Given the description of an element on the screen output the (x, y) to click on. 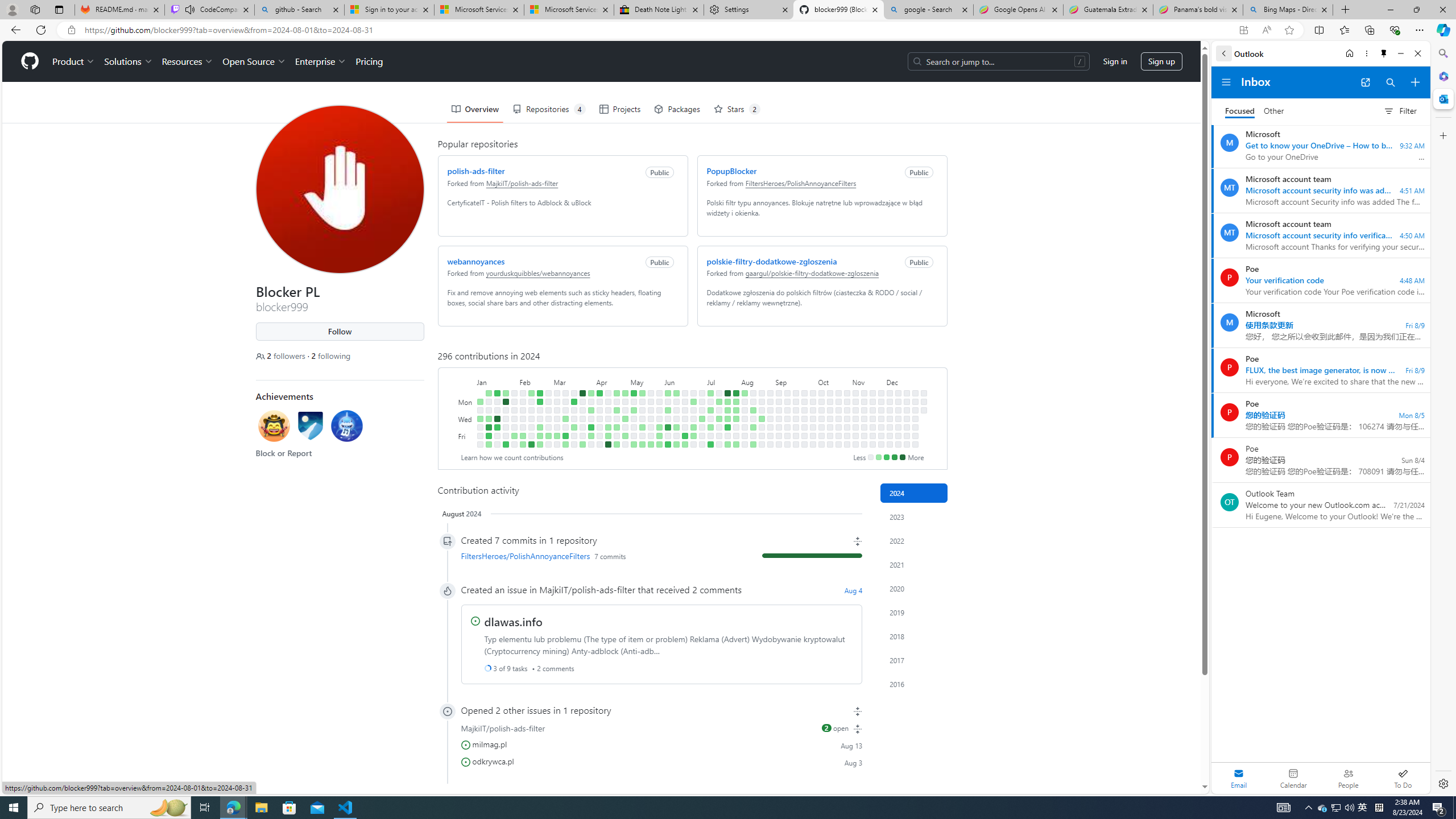
No contributions on November 7th. (855, 427)
Contribution activity in 2023 (913, 516)
1 contribution on February 23rd. (539, 435)
10 contributions on July 21st. (726, 392)
No contributions on September 8th. (786, 392)
No contributions on January 31st. (513, 418)
github - Search (298, 9)
2 contributions on April 18th. (607, 427)
No contributions on November 15th. (863, 435)
No contributions on November 28th. (880, 427)
Solutions (128, 60)
6 contributions on June 8th. (667, 444)
2018 (913, 636)
